Given the description of an element on the screen output the (x, y) to click on. 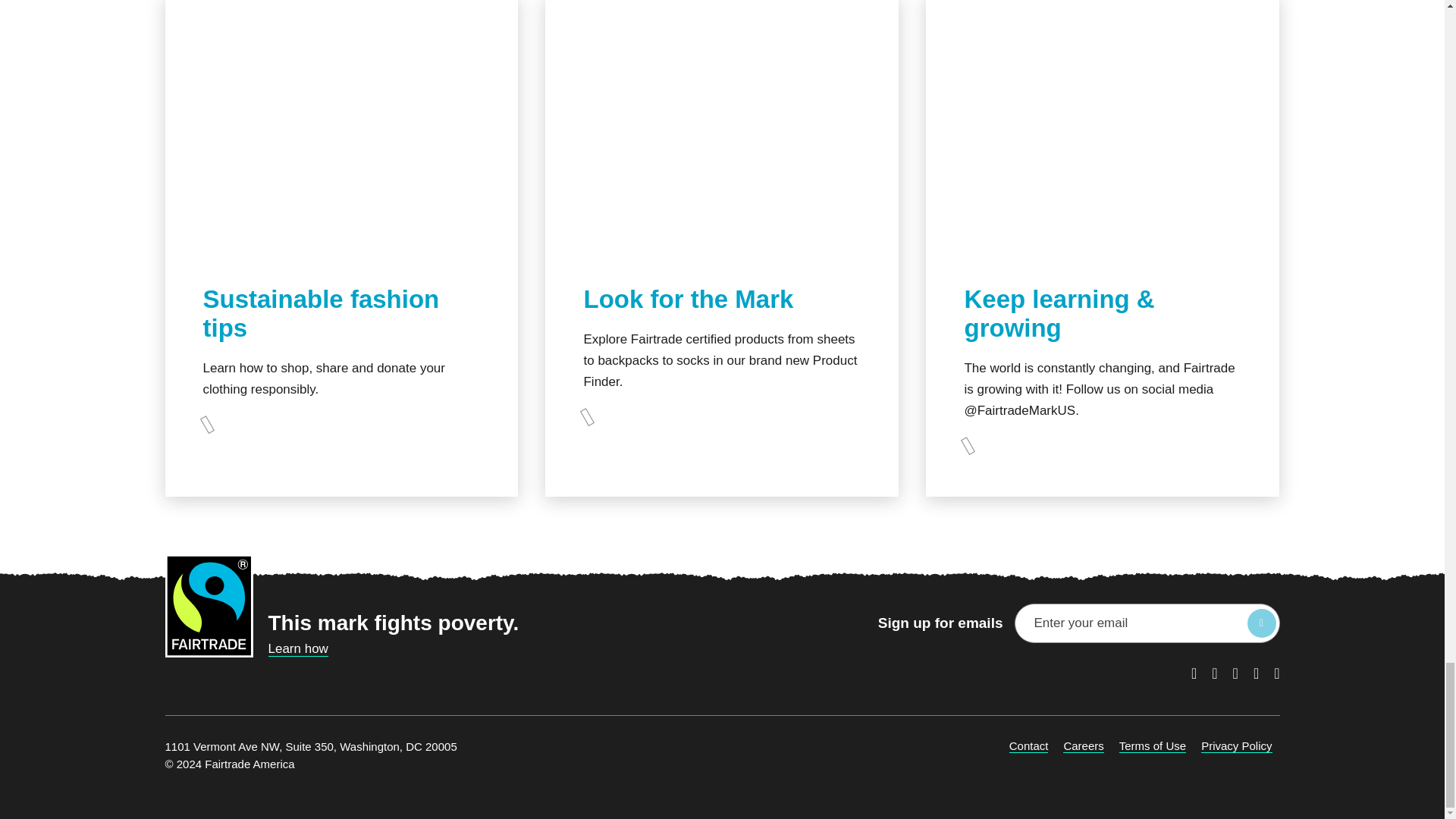
Careers (1082, 745)
Terms of Use (1152, 745)
Privacy Policy (1236, 745)
Submit (1260, 623)
Contact (1028, 745)
Look for the Mark (688, 299)
Learn how (298, 648)
Sustainable fashion tips (321, 314)
